Given the description of an element on the screen output the (x, y) to click on. 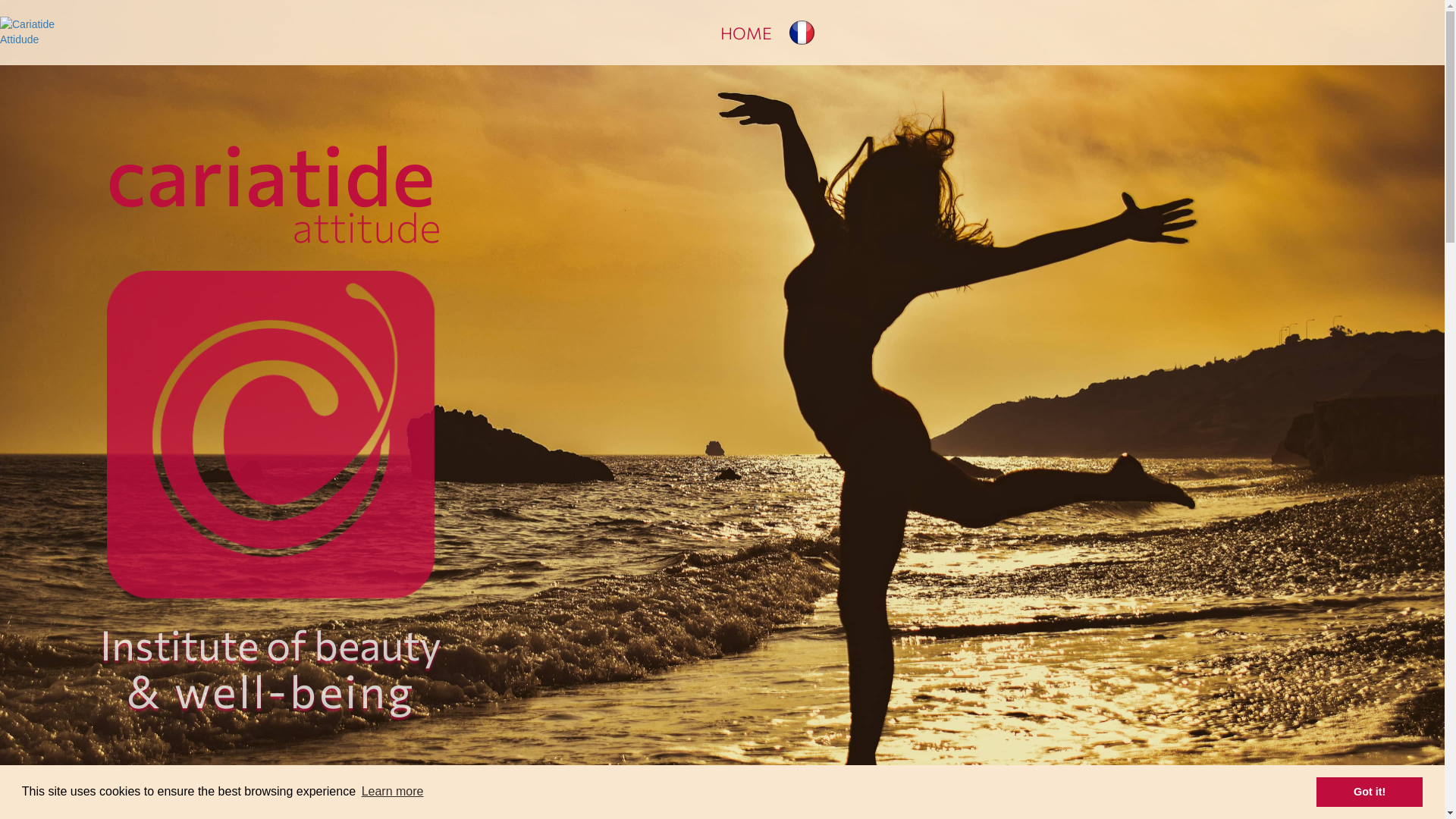
Got it! Element type: text (1369, 791)
HOME Element type: text (745, 32)
Learn more Element type: text (391, 791)
